Given the description of an element on the screen output the (x, y) to click on. 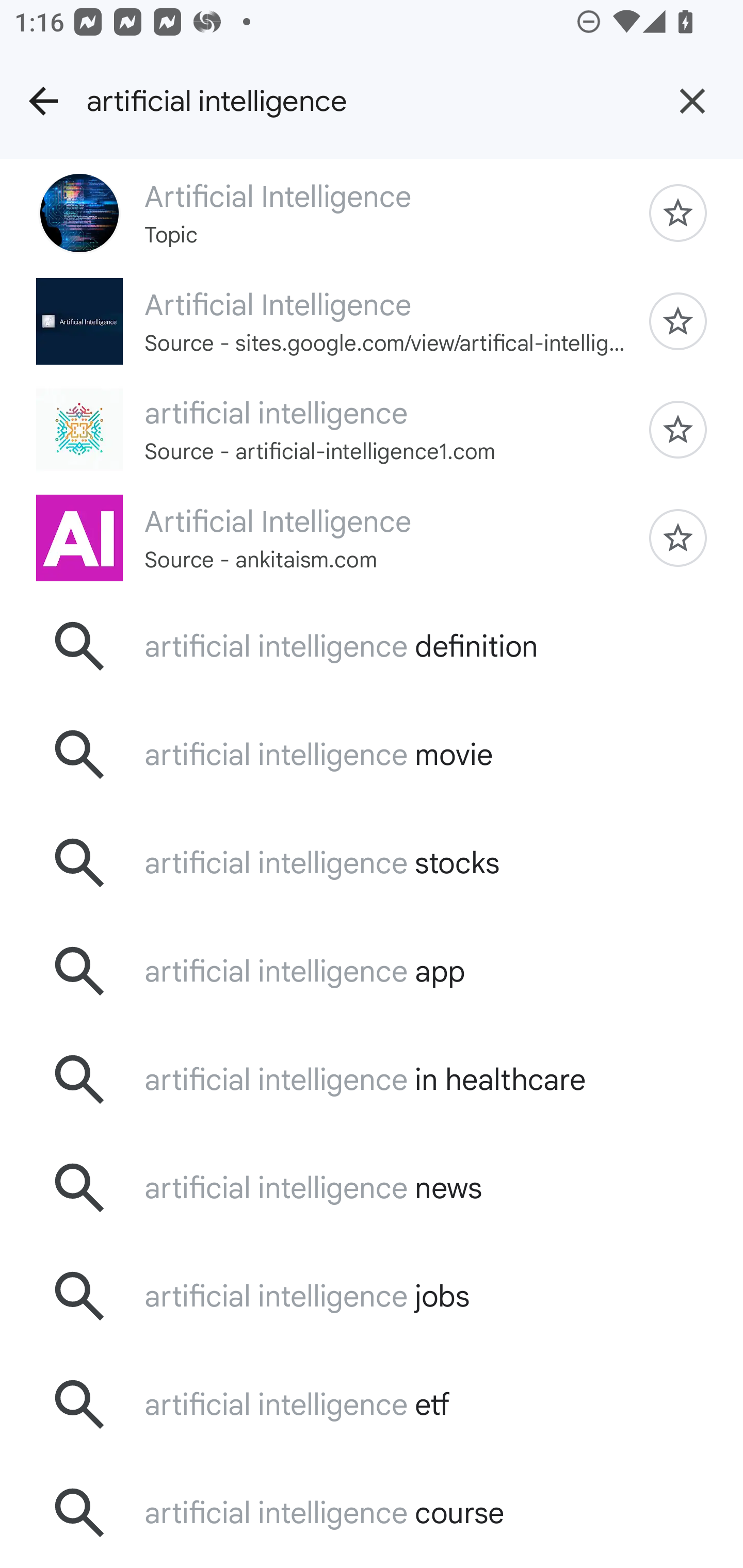
Back (43, 101)
artificial intelligence (363, 101)
Clear text (692, 101)
Artificial Intelligence Topic Follow (371, 212)
Follow (677, 212)
Follow (677, 321)
Follow (677, 429)
Follow (677, 538)
artificial intelligence definition (371, 646)
artificial intelligence movie (371, 754)
artificial intelligence stocks (371, 863)
artificial intelligence app (371, 971)
artificial intelligence in healthcare (371, 1079)
artificial intelligence news (371, 1187)
artificial intelligence jobs (371, 1295)
artificial intelligence etf (371, 1404)
artificial intelligence course (371, 1512)
